Given the description of an element on the screen output the (x, y) to click on. 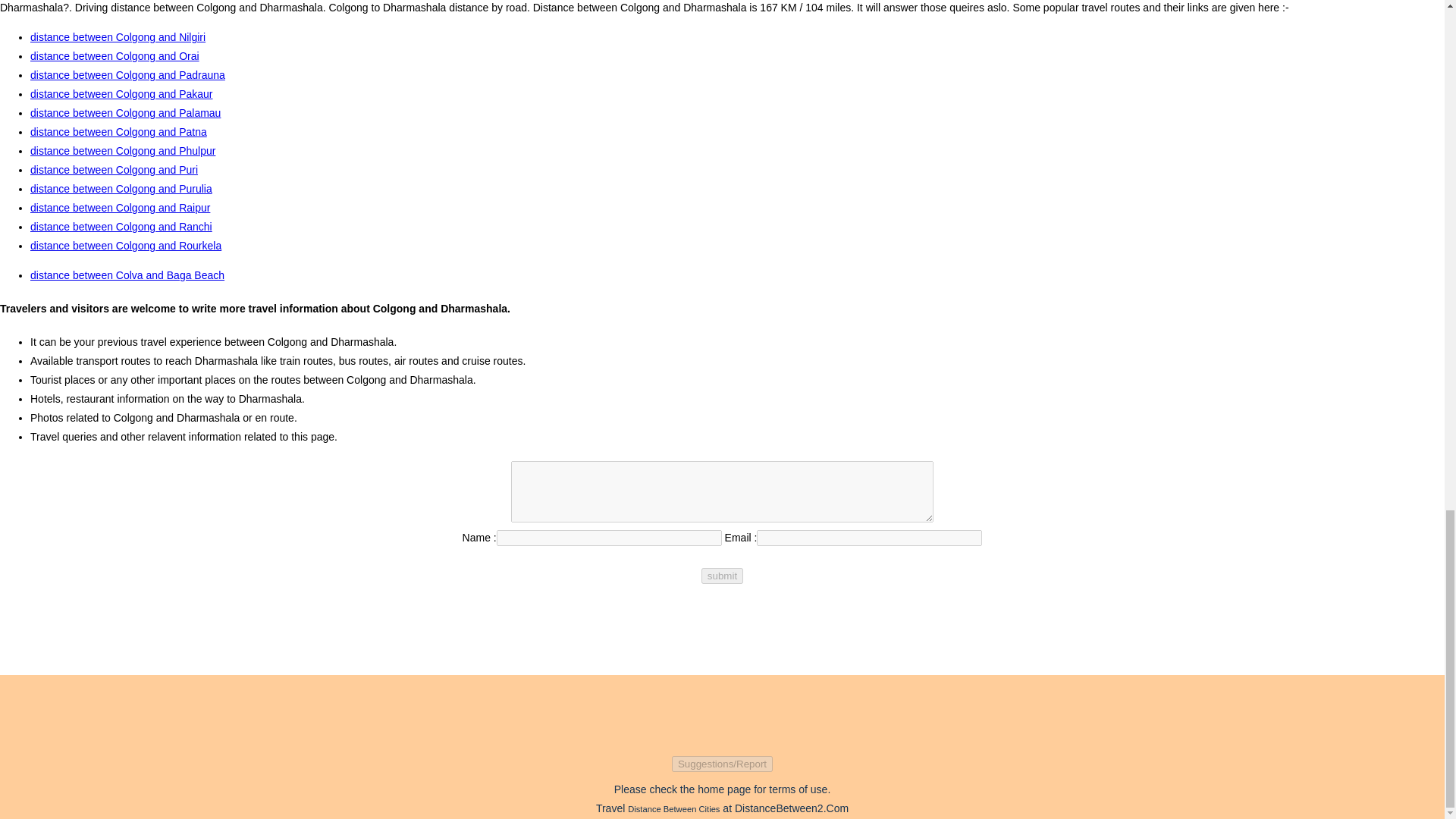
submit (721, 575)
submit (721, 575)
distance between Colgong and Puri (114, 169)
Advertisement (721, 708)
distance between Colgong and Palamau (125, 112)
distance between Colgong and Pakaur (121, 93)
distance between Colva and Baga Beach (127, 275)
distance between Colgong and Purulia (121, 188)
distance between Colgong and Phulpur (122, 150)
distance between Colgong and Ranchi (121, 226)
Advertisement (721, 632)
distance between Colgong and Orai (114, 55)
Distance Between Cities (673, 809)
distance between Colgong and Rourkela (125, 245)
distance between Colgong and Raipur (119, 207)
